Given the description of an element on the screen output the (x, y) to click on. 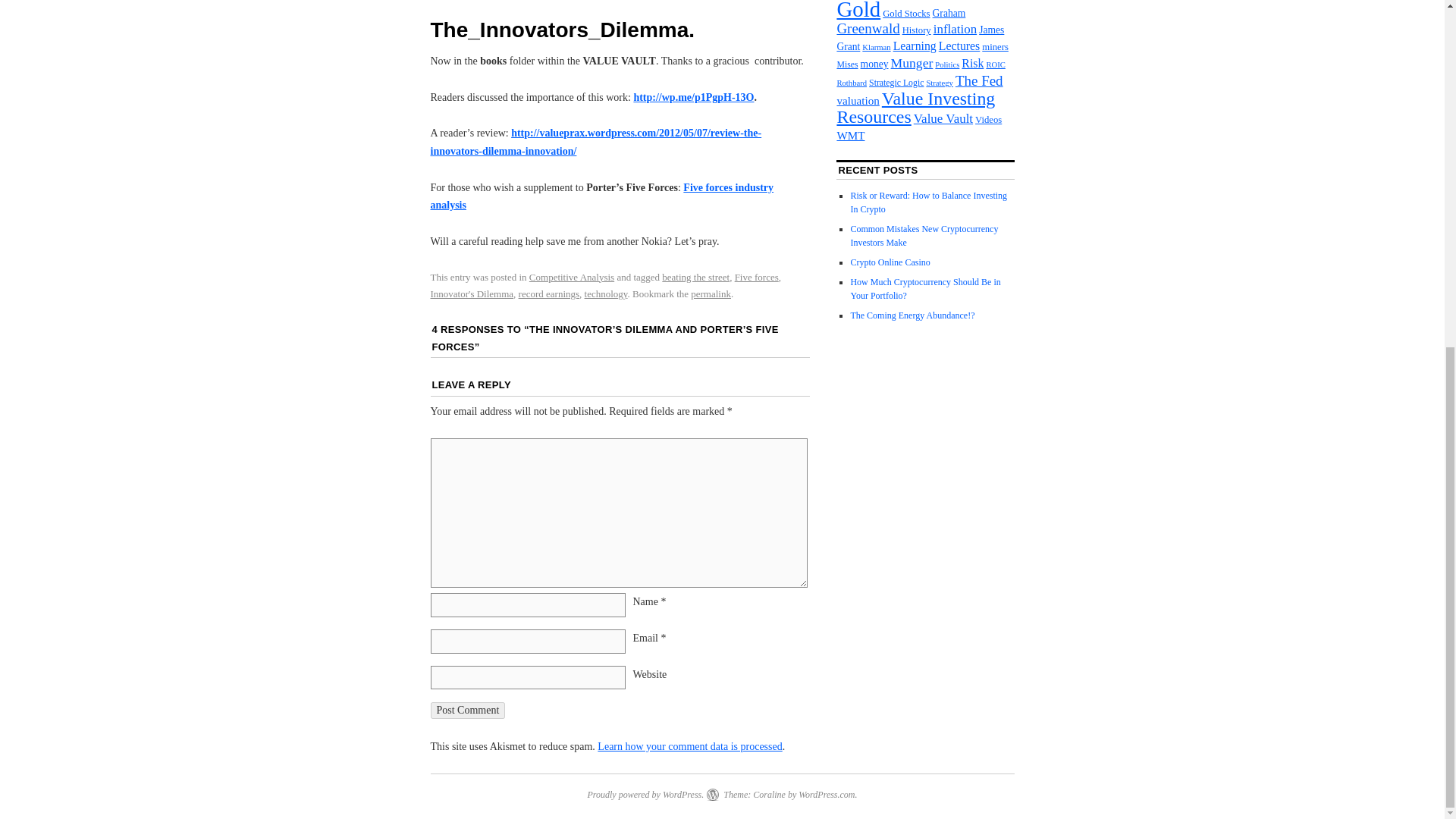
beating the street (695, 276)
Innovator's Dilemma (471, 293)
Post Comment (467, 710)
Learn how your comment data is processed (688, 746)
Five forces (756, 276)
Competitive Analysis (571, 276)
Five forces industry analysis (602, 196)
record earnings (548, 293)
Post Comment (467, 710)
technology (606, 293)
A Semantic Personal Publishing Platform (644, 794)
permalink (710, 293)
